Given the description of an element on the screen output the (x, y) to click on. 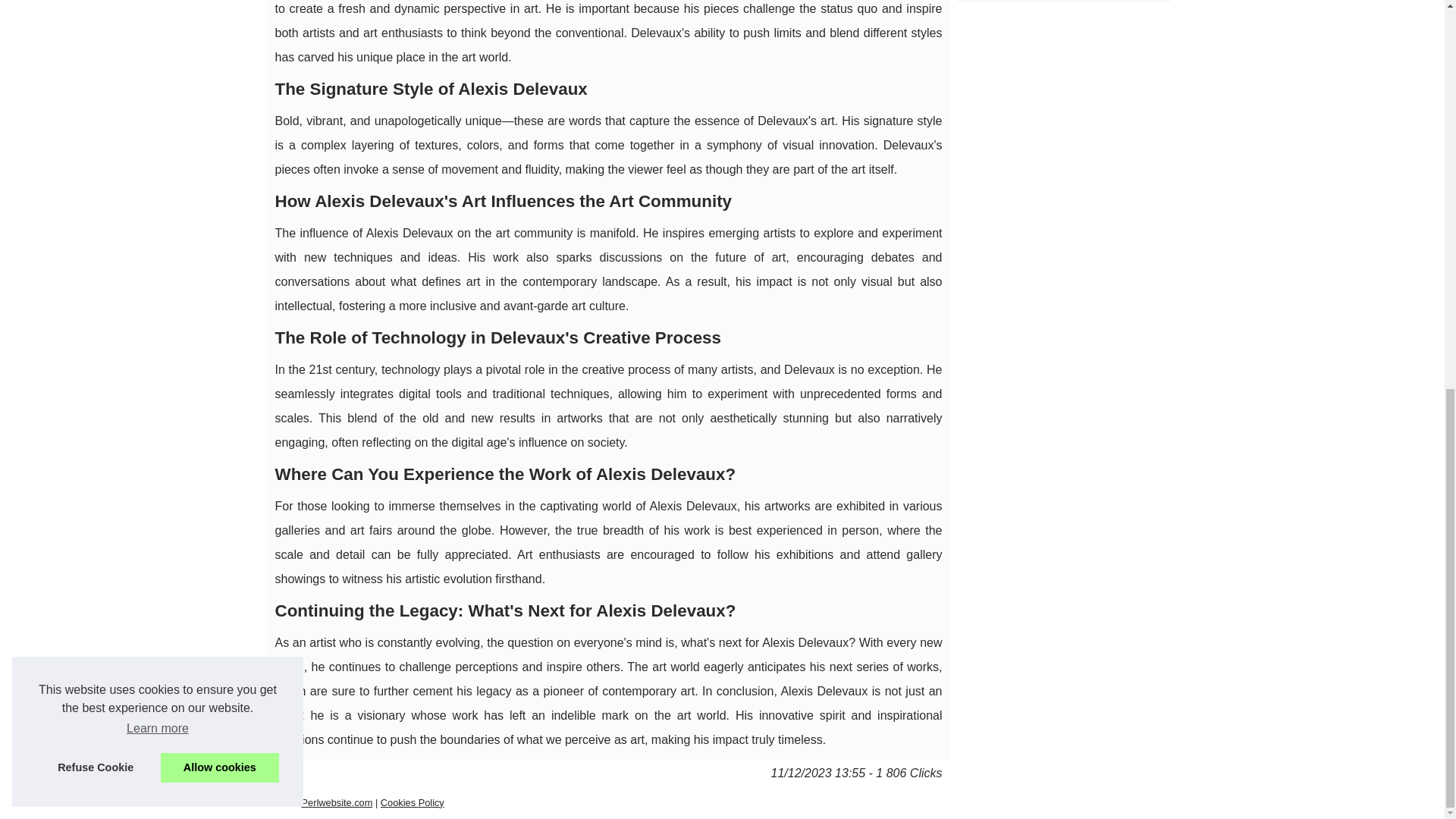
perlwebsite.com (336, 802)
Cookies Policy (412, 802)
Learn more (156, 1)
Cookies Policy (412, 802)
Perlwebsite.com (336, 802)
Allow cookies (219, 29)
Refuse Cookie (95, 29)
